Given the description of an element on the screen output the (x, y) to click on. 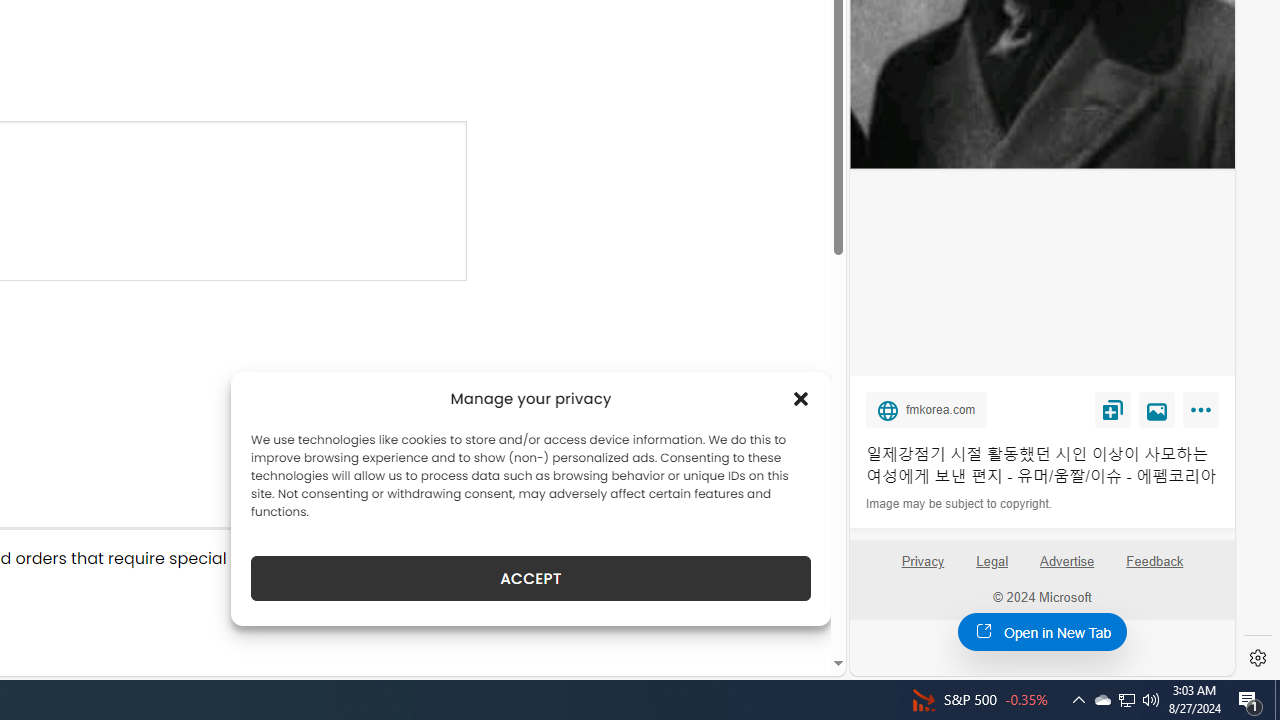
More (1204, 413)
ACCEPT (530, 578)
fmkorea.com (927, 409)
View image (1157, 409)
